Given the description of an element on the screen output the (x, y) to click on. 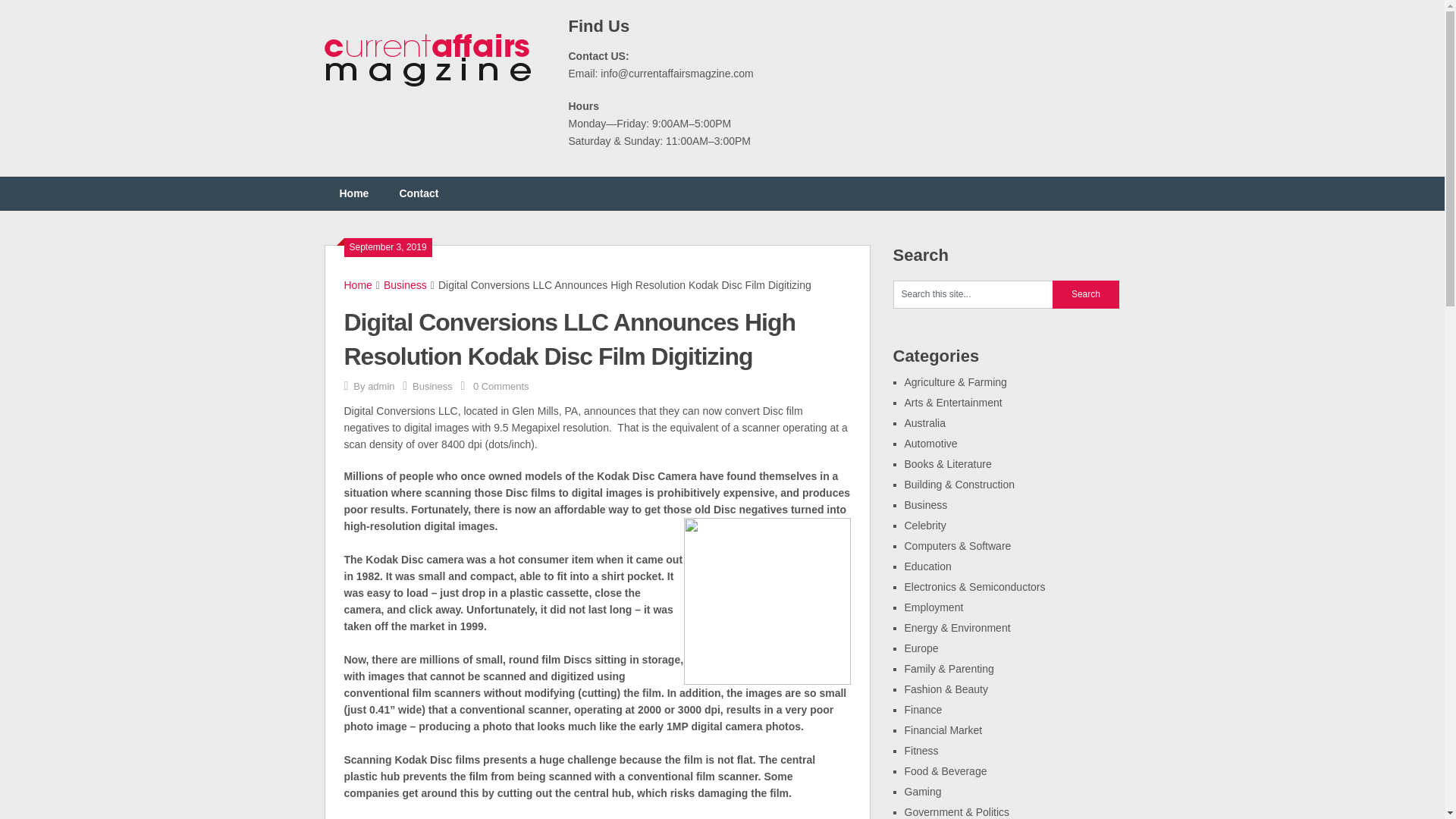
Celebrity (924, 525)
Business (405, 285)
Search (1085, 294)
Europe (920, 648)
Home (354, 193)
admin (381, 386)
0 Comments (501, 386)
Business (925, 504)
Posts by admin (381, 386)
Education (927, 566)
